Given the description of an element on the screen output the (x, y) to click on. 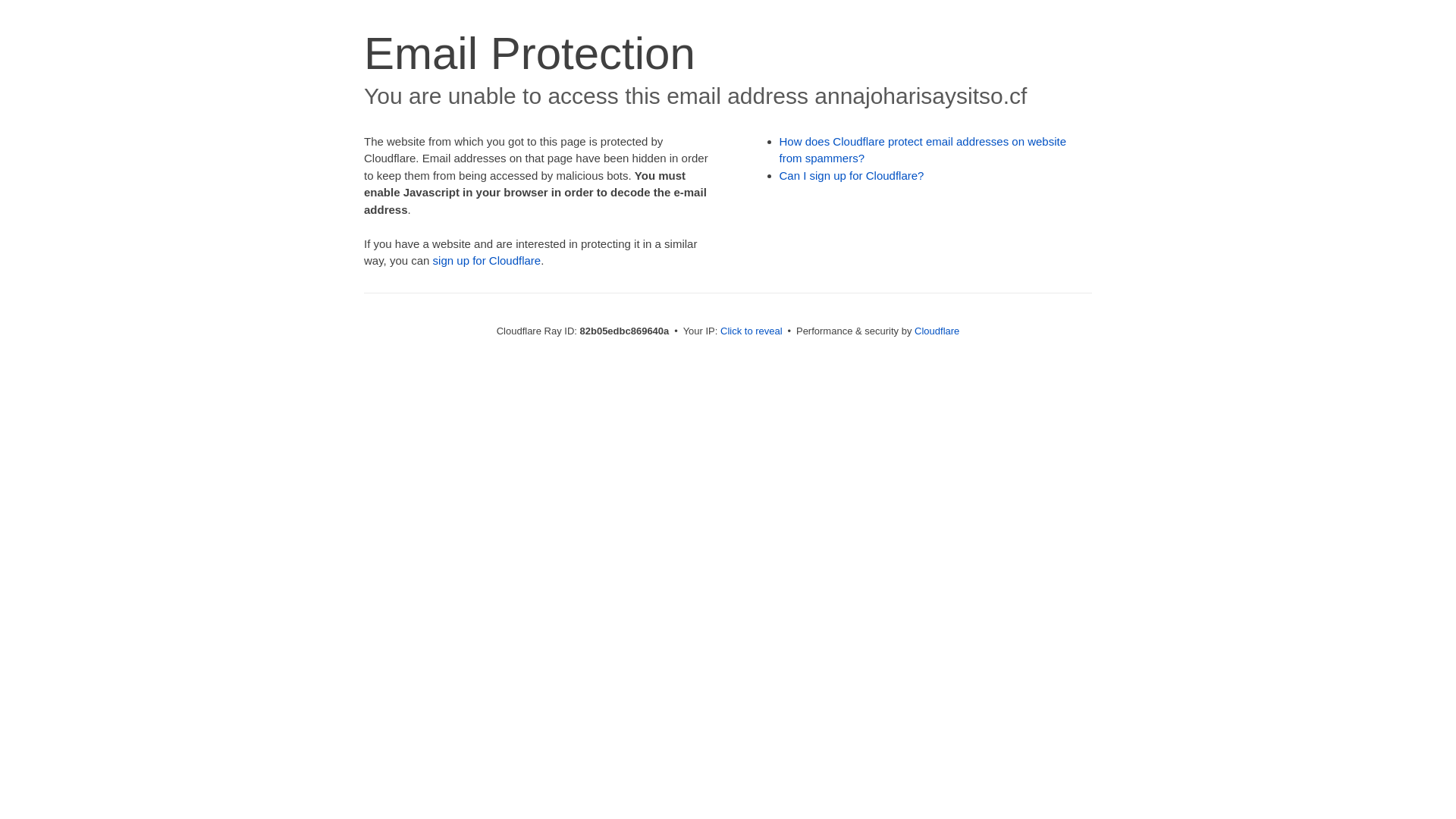
Cloudflare Element type: text (936, 330)
sign up for Cloudflare Element type: text (487, 260)
Click to reveal Element type: text (751, 330)
Can I sign up for Cloudflare? Element type: text (851, 175)
